Given the description of an element on the screen output the (x, y) to click on. 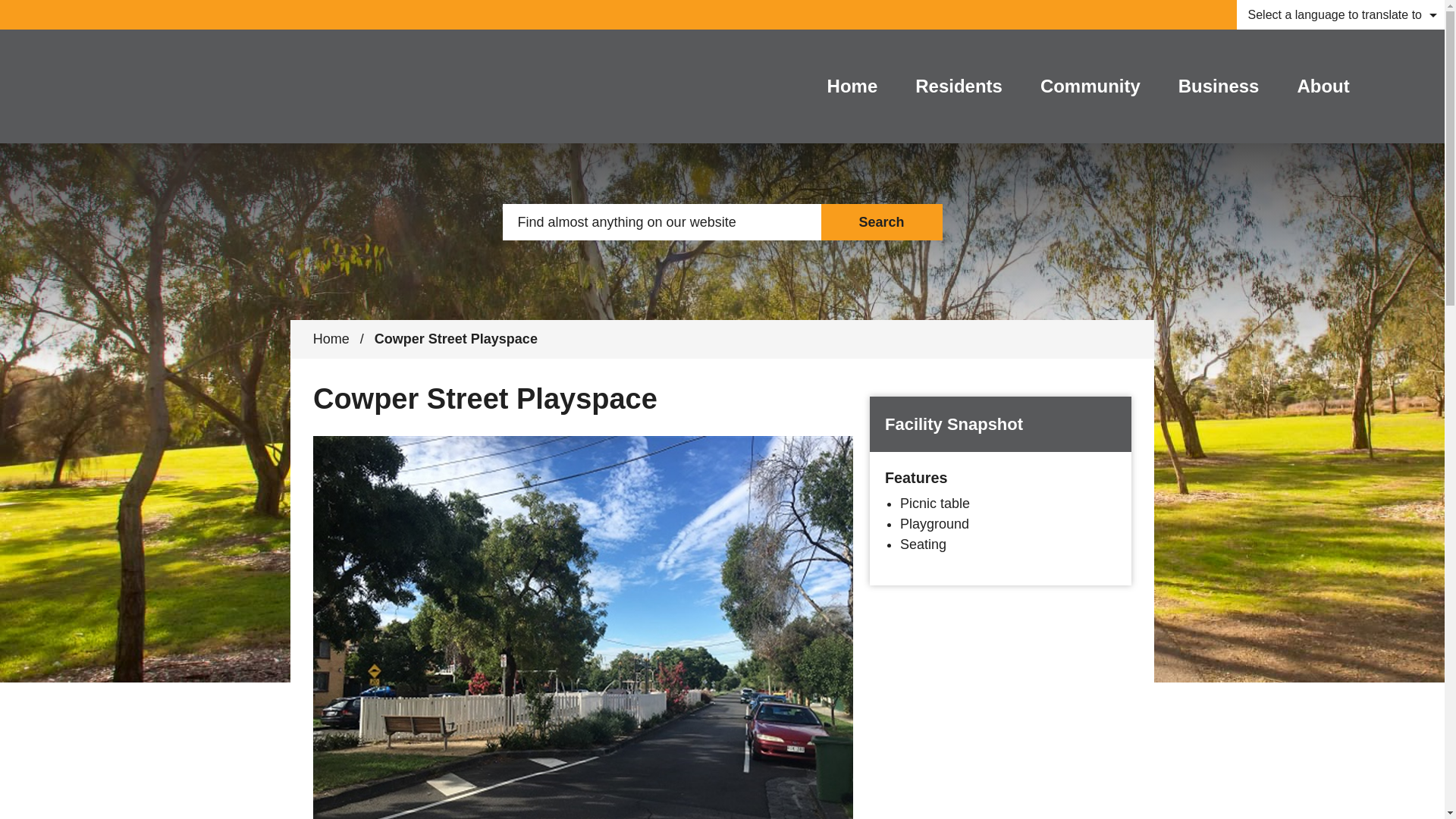
Search (881, 221)
Search (881, 221)
